Given the description of an element on the screen output the (x, y) to click on. 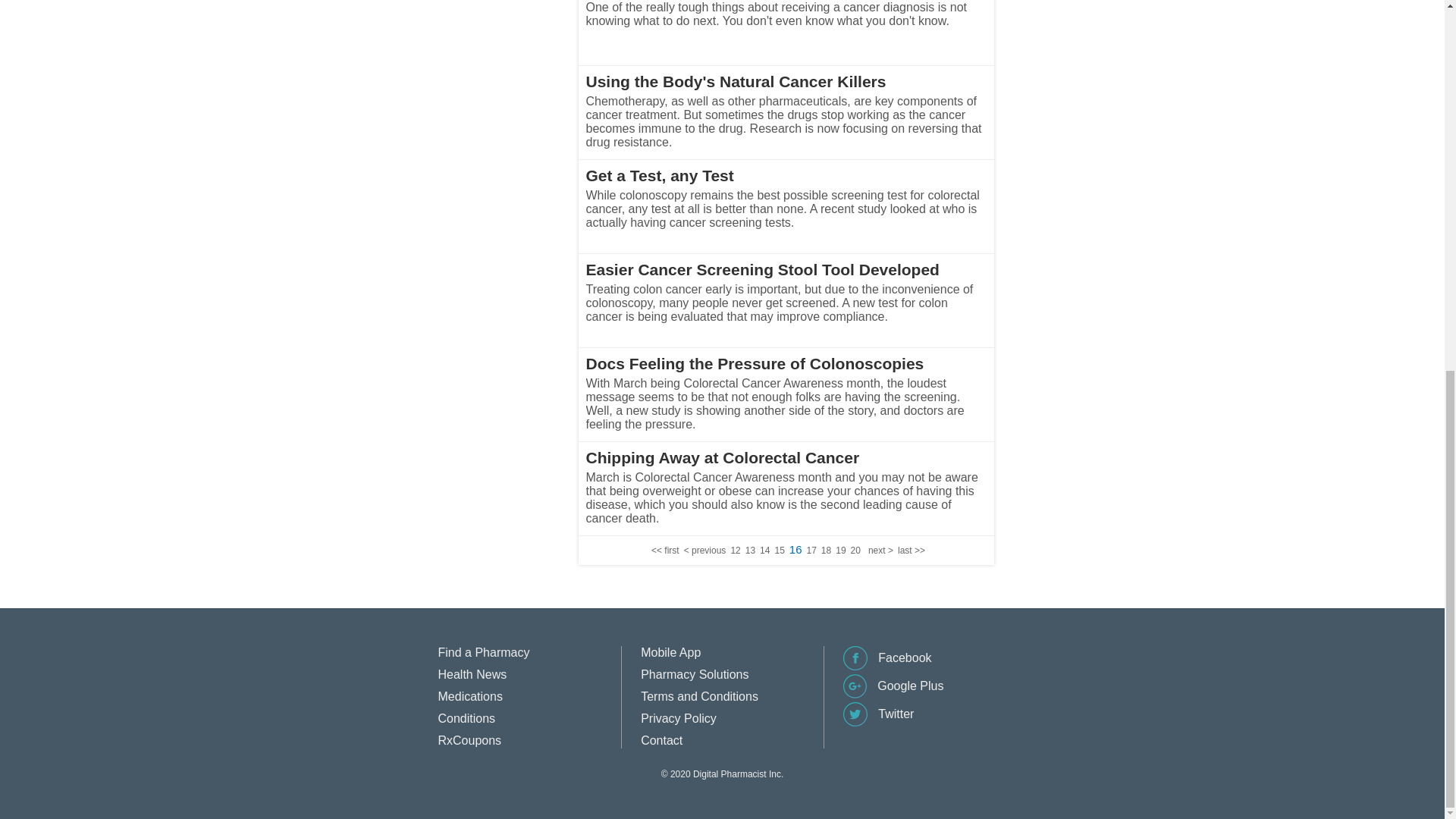
17 (811, 550)
12 (734, 550)
14 (765, 550)
15 (779, 550)
18 (826, 550)
13 (750, 550)
